Given the description of an element on the screen output the (x, y) to click on. 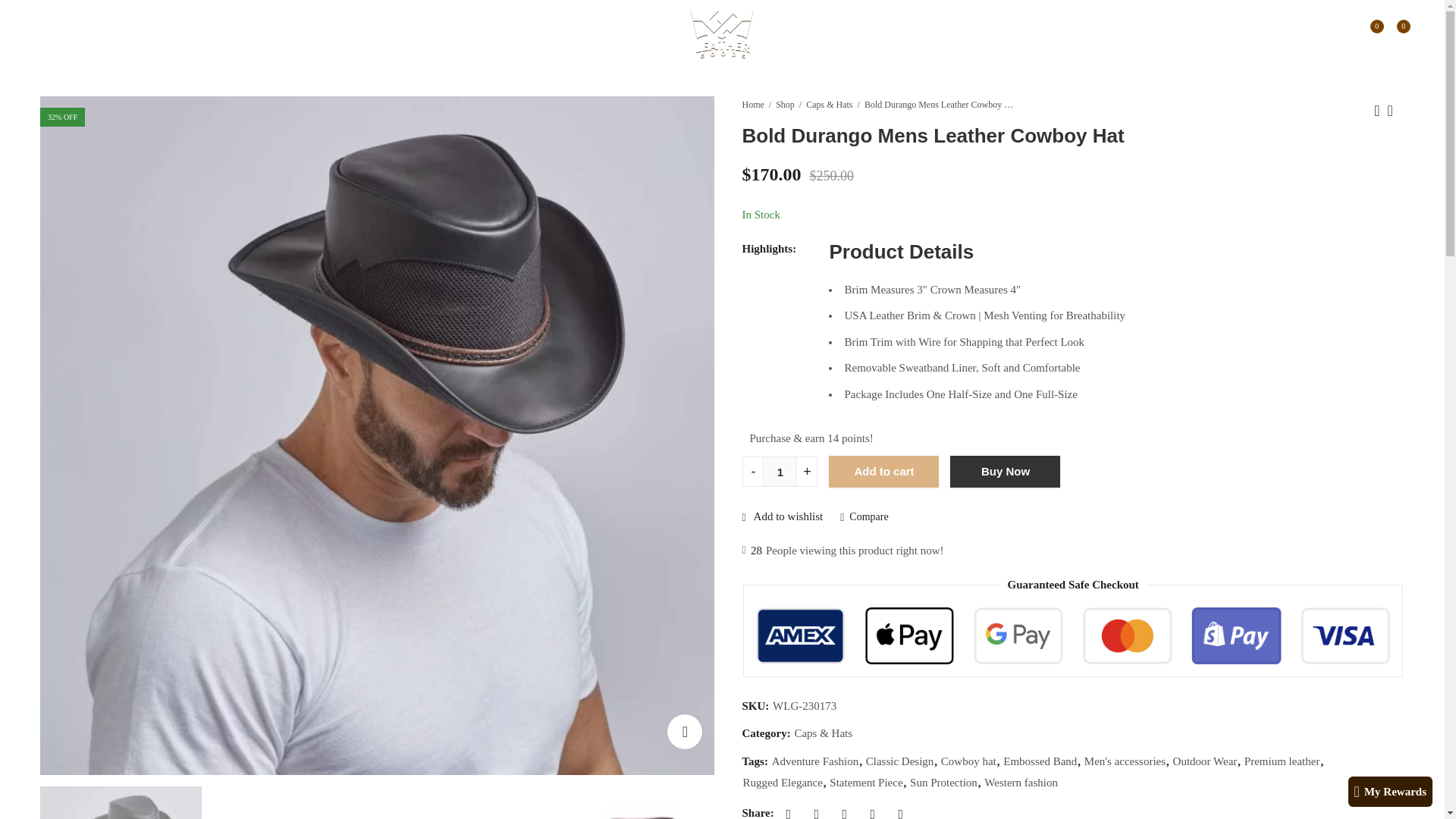
WLG-230173 (294, 802)
Rewards (230, 34)
Adventure Fashion (815, 762)
Men (58, 34)
Lightbox (683, 731)
Compare (864, 517)
WLG-230173 (466, 802)
Buy Now (1004, 471)
Backpacks (164, 34)
1 (779, 471)
